Given the description of an element on the screen output the (x, y) to click on. 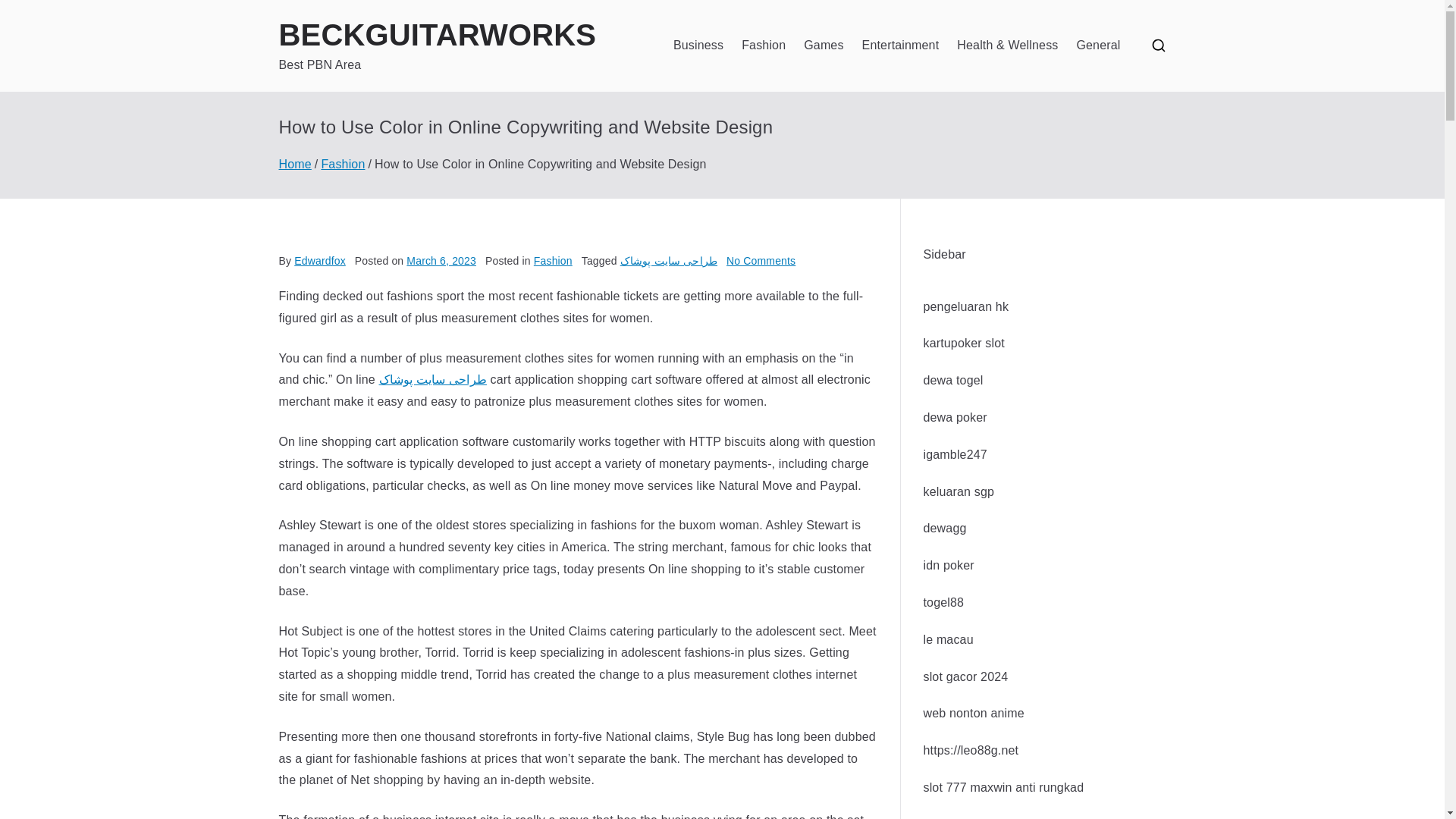
igamble247 (955, 454)
Games (823, 45)
Fashion (763, 45)
March 6, 2023 (441, 260)
Home (295, 164)
kartupoker slot (963, 342)
dewagg (944, 527)
Fashion (342, 164)
Business (697, 45)
